Given the description of an element on the screen output the (x, y) to click on. 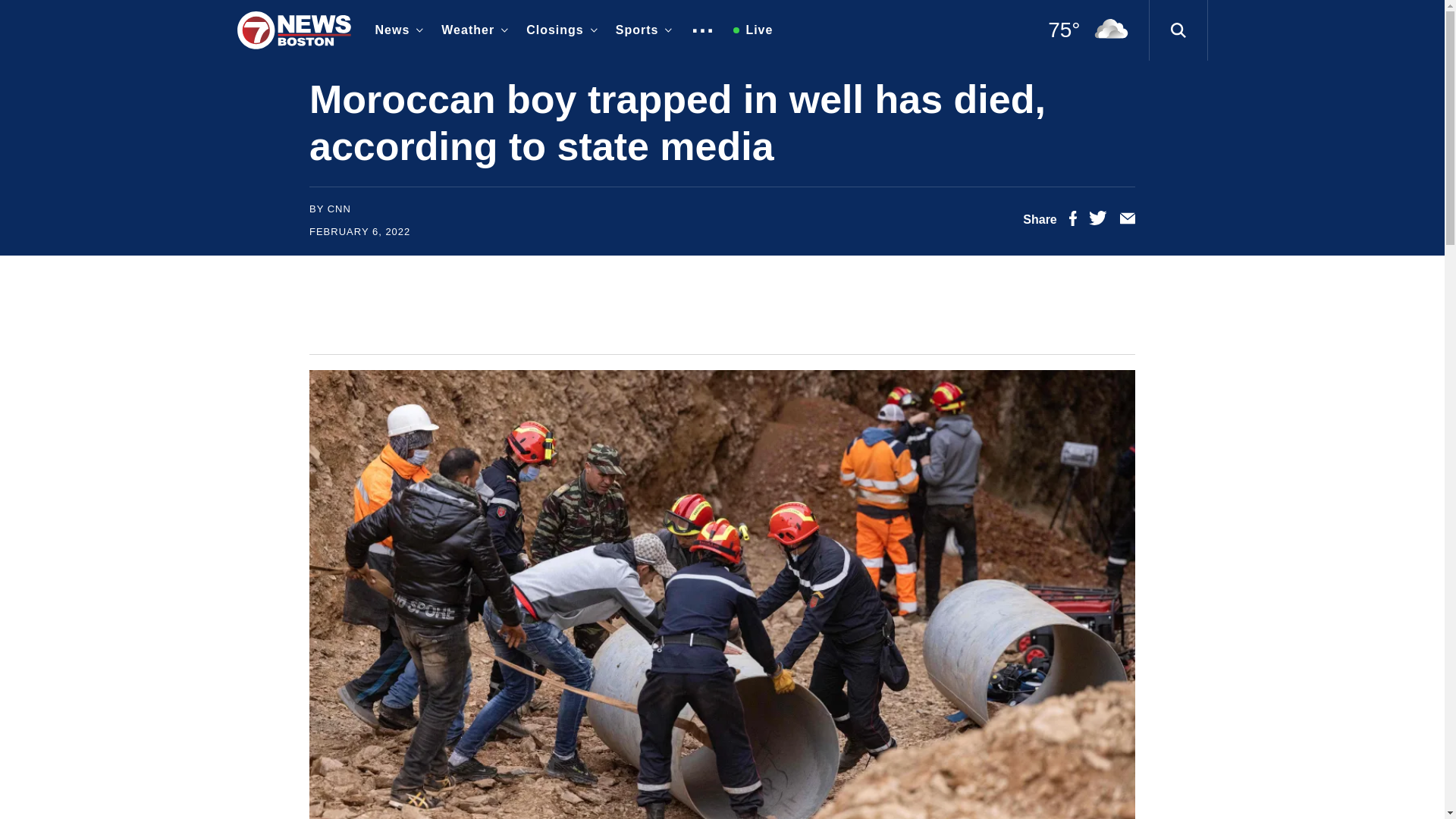
Email (1127, 221)
February 6, 2022 (359, 231)
Closings (558, 30)
Twitter (1098, 221)
Posts by CNN (338, 208)
Weather (471, 30)
Sports (641, 30)
News (395, 30)
